Given the description of an element on the screen output the (x, y) to click on. 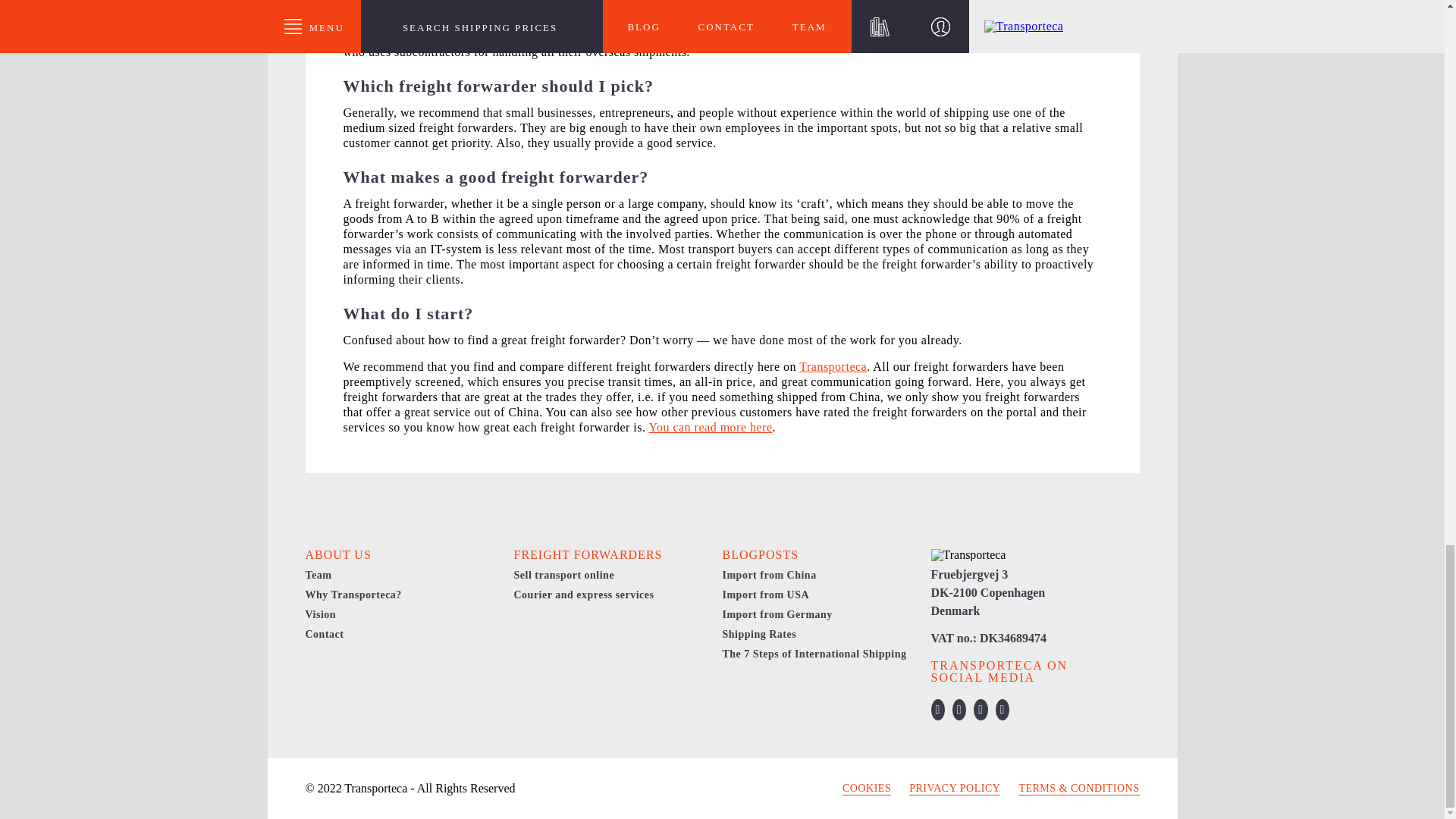
You can read more here (709, 427)
Vision (320, 614)
Transporteca (832, 366)
Why Transporteca? (352, 594)
Team (317, 574)
